Given the description of an element on the screen output the (x, y) to click on. 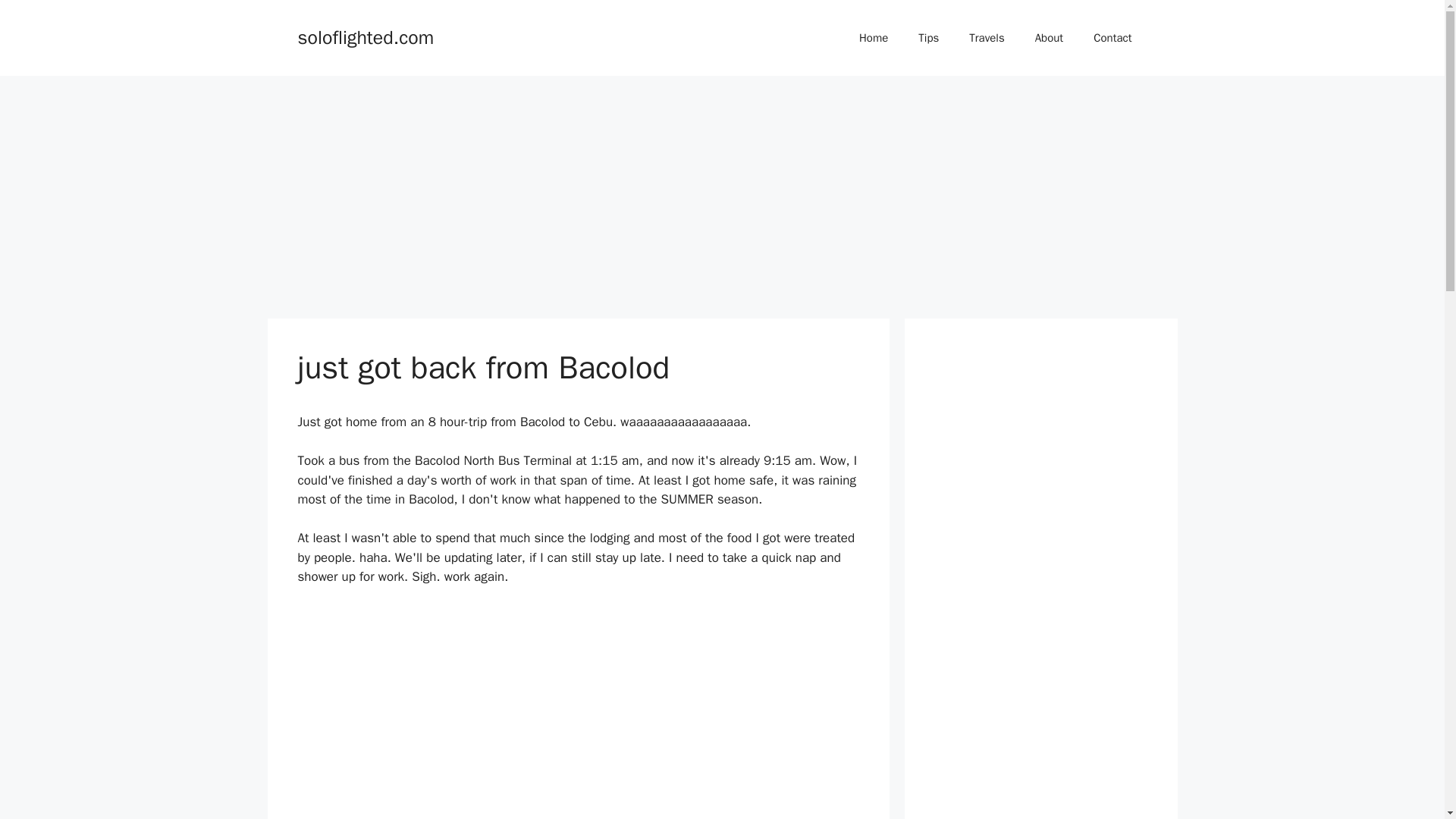
soloflightEd (873, 37)
soloflighted.com (365, 37)
Contact (1112, 37)
Tips (927, 37)
Home (873, 37)
About (1049, 37)
Advertisement (578, 712)
Travels (986, 37)
